Given the description of an element on the screen output the (x, y) to click on. 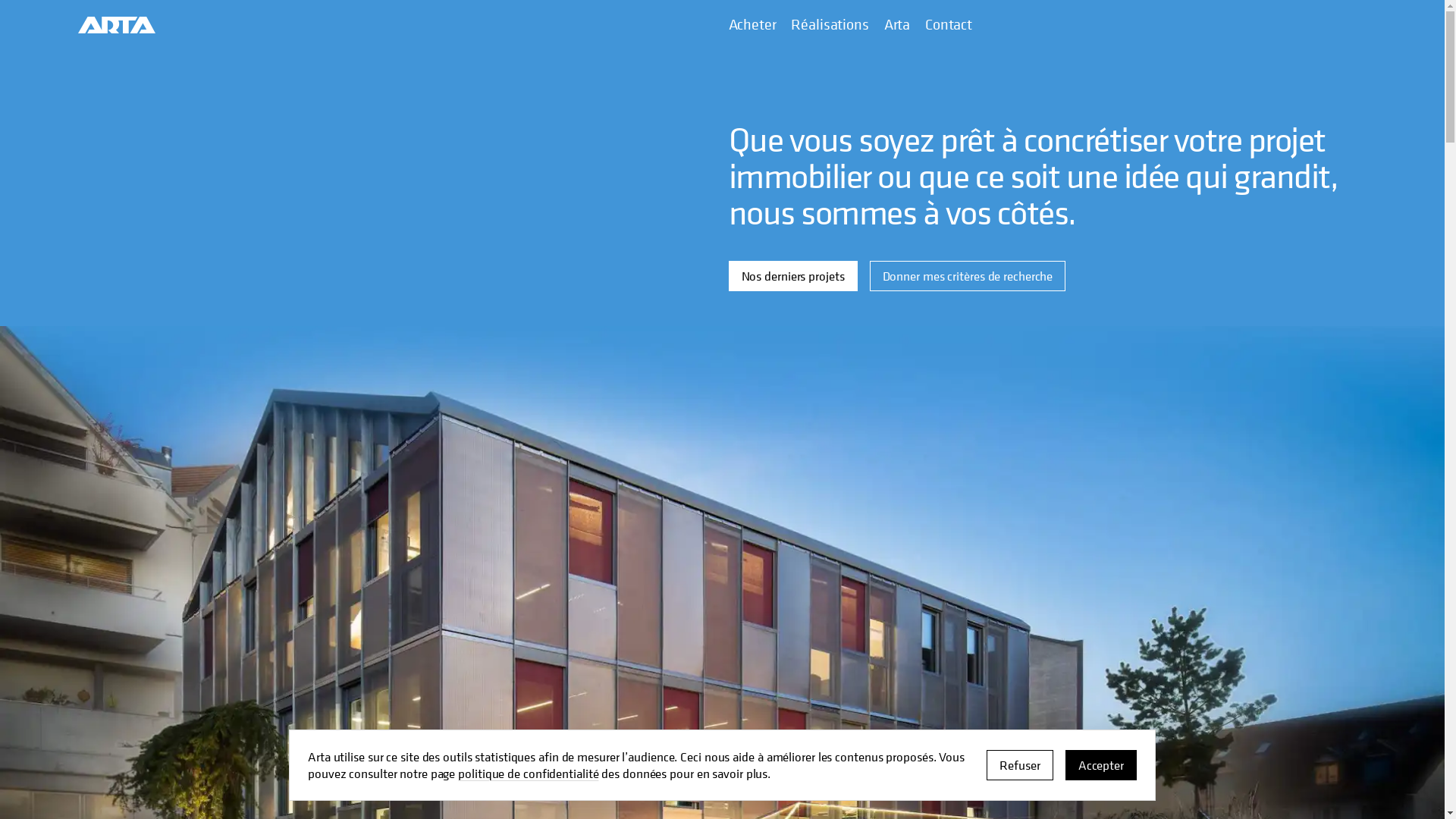
Acheter Element type: text (751, 24)
Contact Element type: text (948, 24)
Nos derniers projets Element type: text (792, 275)
Refuser Element type: text (1019, 764)
Arta Element type: text (897, 24)
Accepter Element type: text (1100, 764)
